Given the description of an element on the screen output the (x, y) to click on. 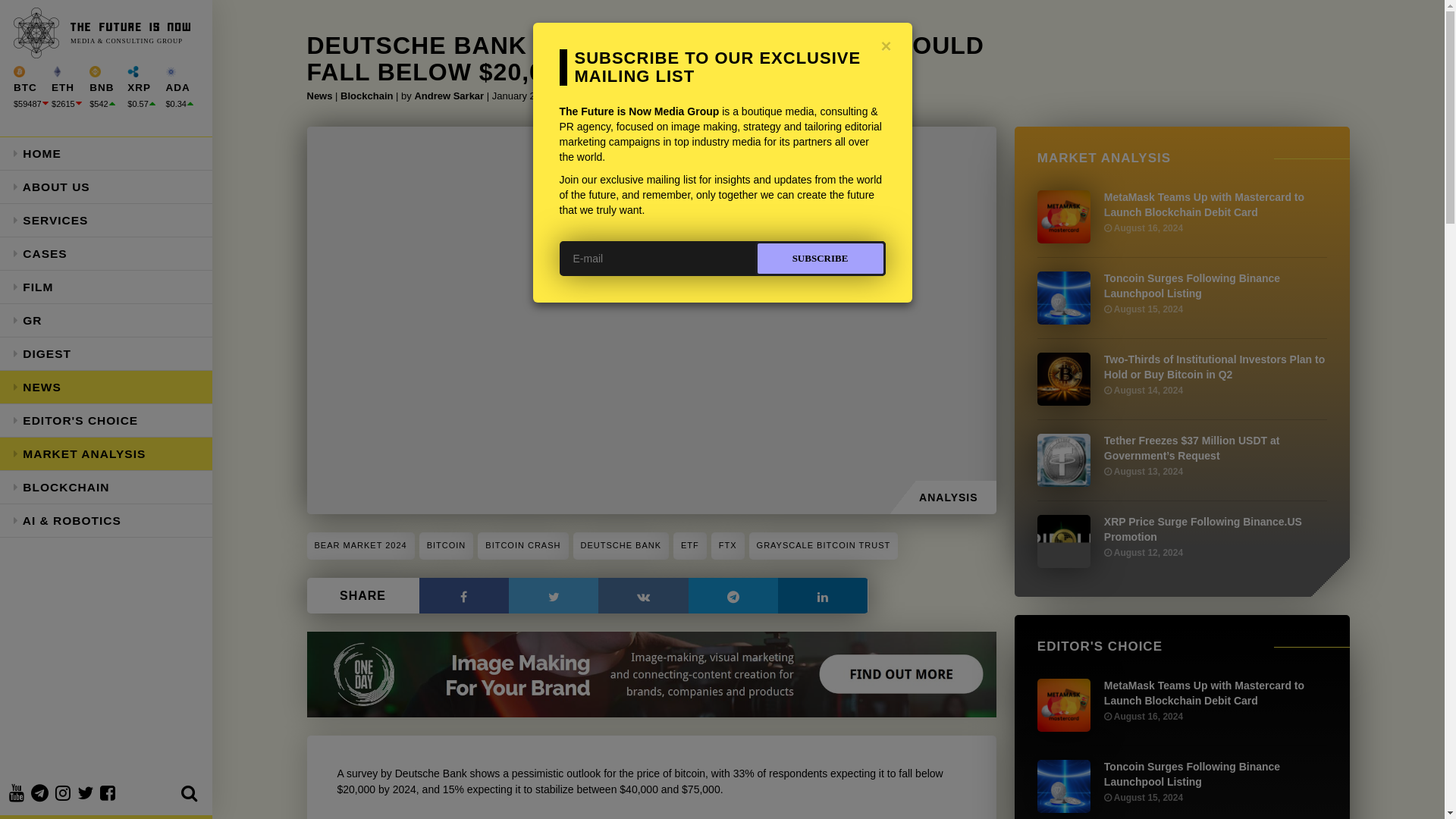
Facebook (463, 595)
ETF Tag (689, 545)
FTX (727, 545)
DEUTSCHE BANK (621, 545)
Grayscale Bitcoin Trust Tag (823, 545)
EDITOR'S CHOICE (106, 420)
Deutsche Bank Tag (621, 545)
Telegram (732, 595)
LinkedIn (822, 595)
Bitcoin Crash Tag (522, 545)
